Given the description of an element on the screen output the (x, y) to click on. 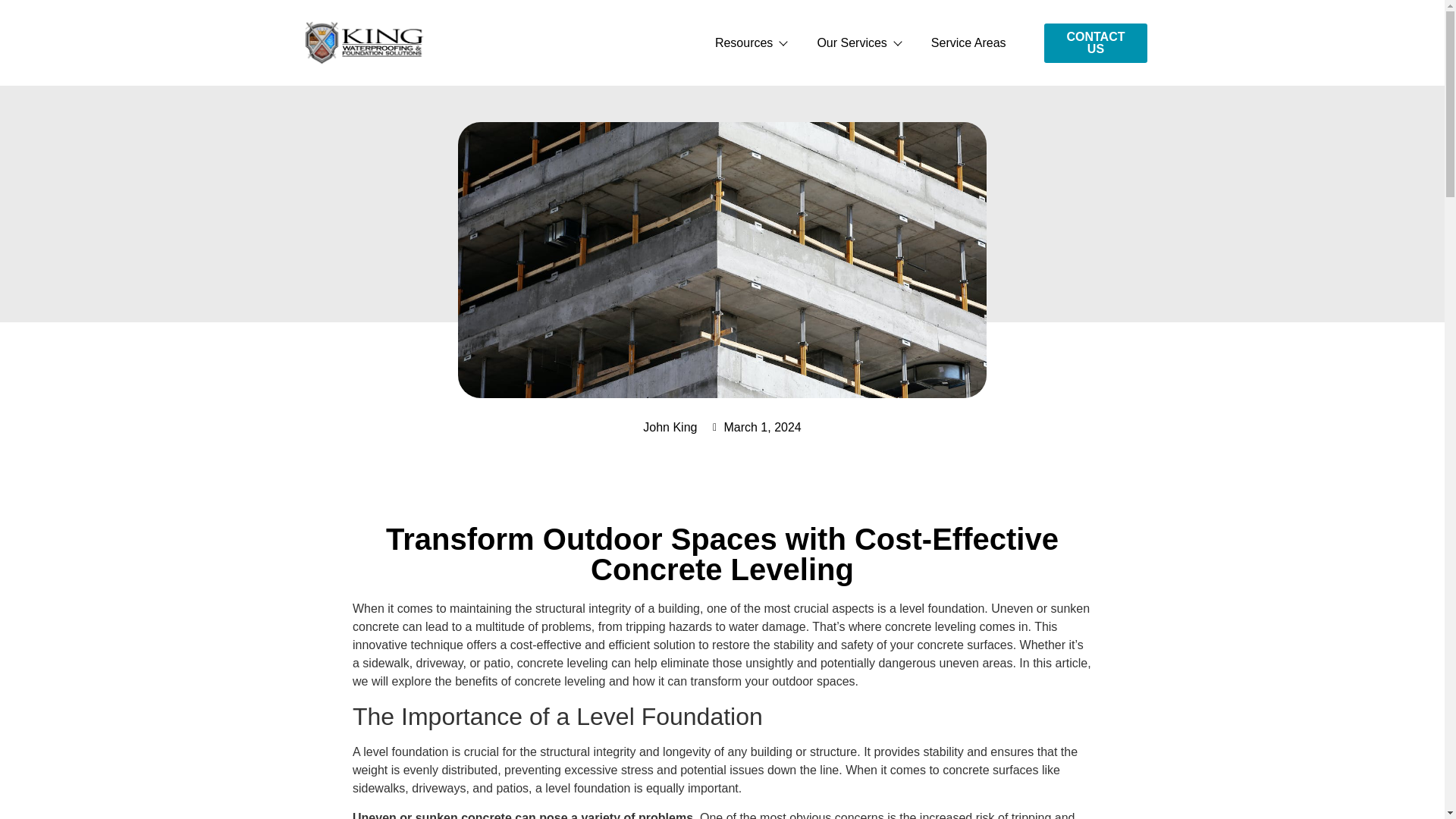
Our Services (858, 43)
CONTACT US (1095, 43)
March 1, 2024 (754, 427)
Resources (750, 43)
Service Areas (968, 43)
